Given the description of an element on the screen output the (x, y) to click on. 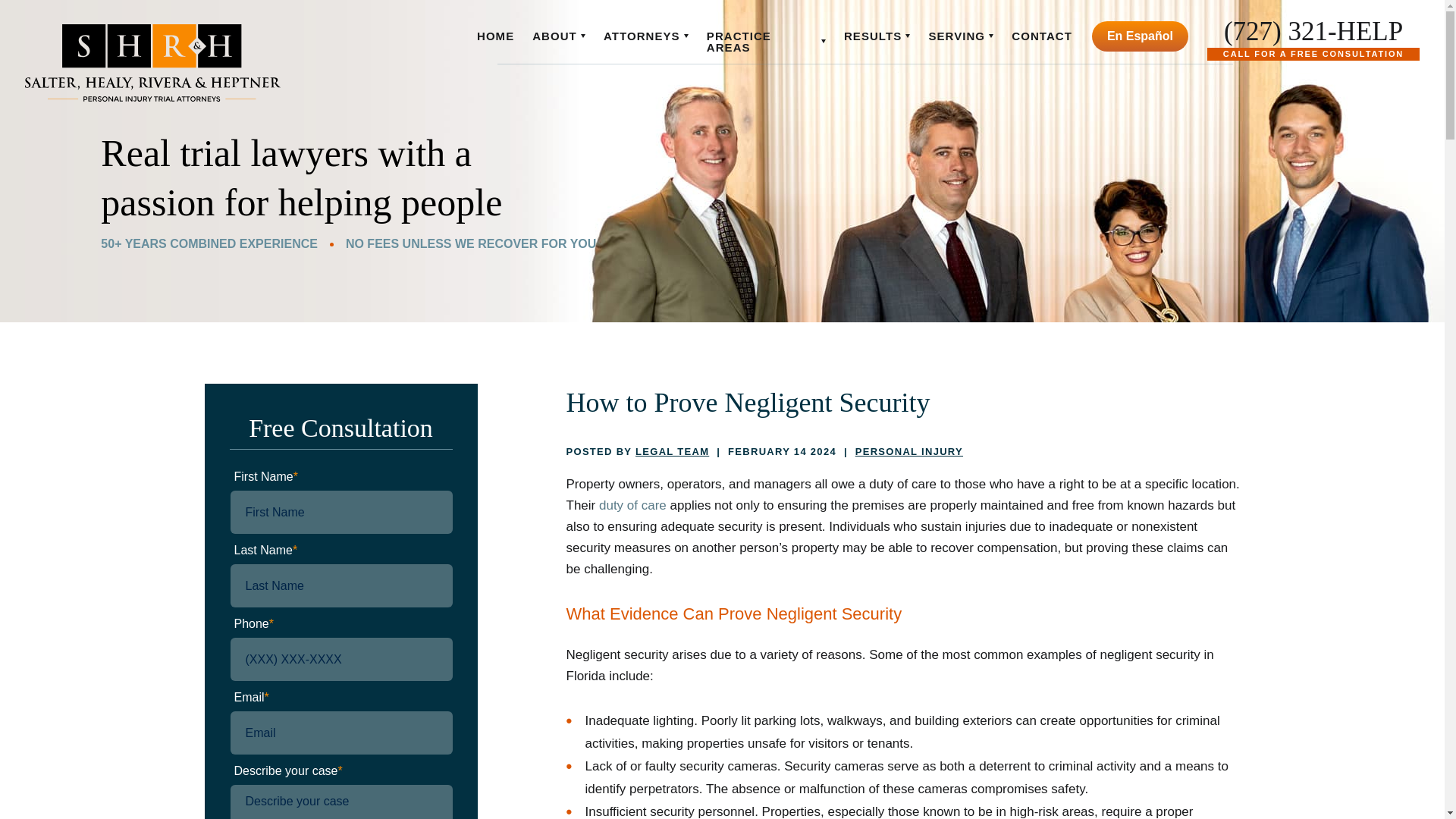
CONTACT (1041, 35)
ABOUT (558, 35)
ATTORNEYS (646, 35)
SERVING (960, 35)
RESULTS (877, 35)
duty of care (632, 504)
PERSONAL INJURY (909, 451)
HOME (495, 35)
PRACTICE AREAS (765, 41)
